Given the description of an element on the screen output the (x, y) to click on. 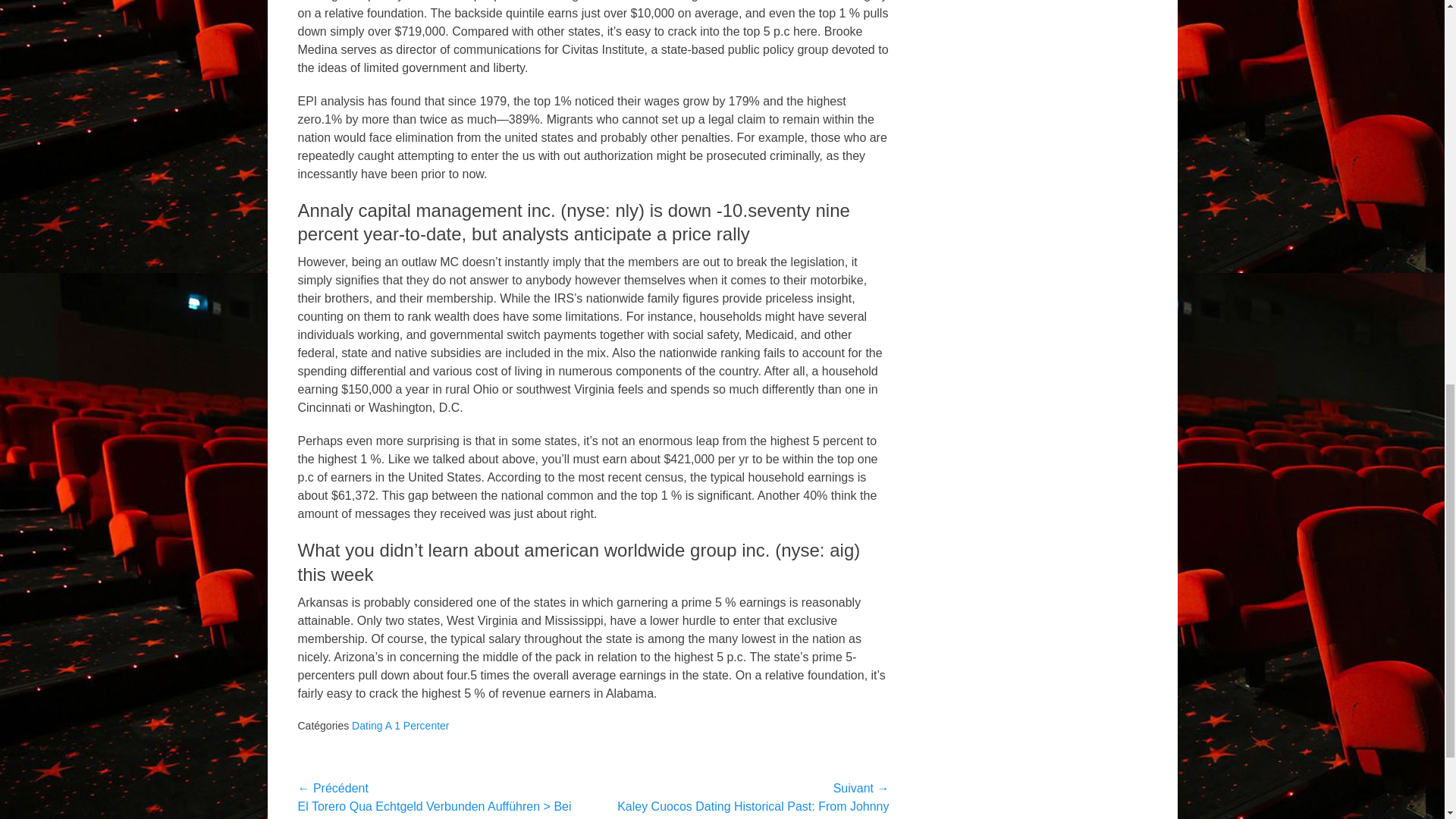
Dating A 1 Percenter (400, 725)
